Given the description of an element on the screen output the (x, y) to click on. 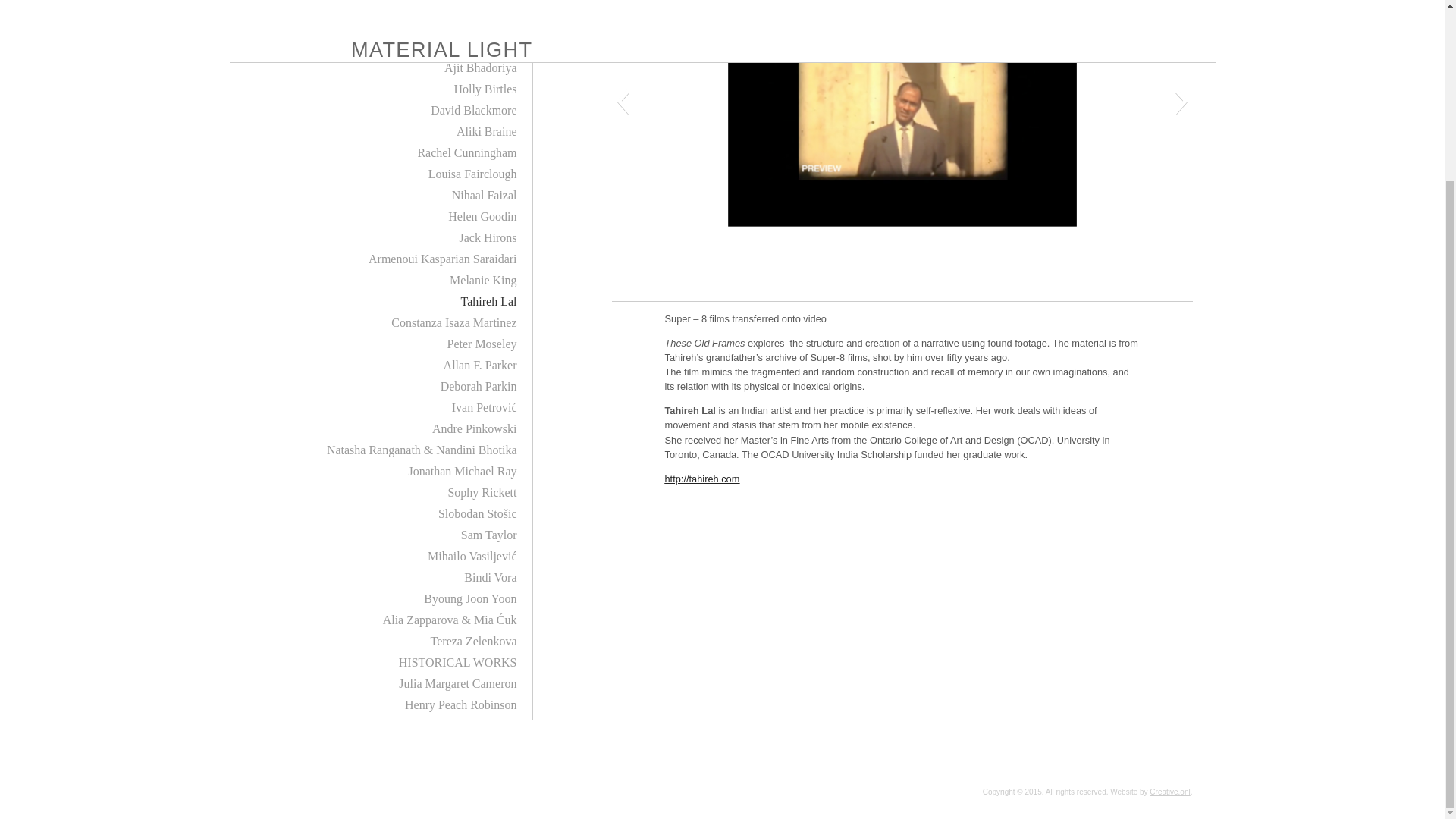
Jack Hirons (488, 237)
Louisa Fairclough (472, 173)
Henry Peach Robinson (460, 704)
Rachel Cunningham (466, 152)
Bindi Vora (490, 576)
Jonathan Michael Ray (461, 471)
Armenoui Kasparian Saraidari (442, 258)
Melanie King (482, 279)
Nihaal Faizal (483, 195)
Allan F. Parker (480, 364)
Helen Goodin (482, 215)
Deborah Parkin (478, 386)
Constanza Isaza Martinez (453, 322)
Tereza Zelenkova (473, 640)
Andre Pinkowski (474, 428)
